Given the description of an element on the screen output the (x, y) to click on. 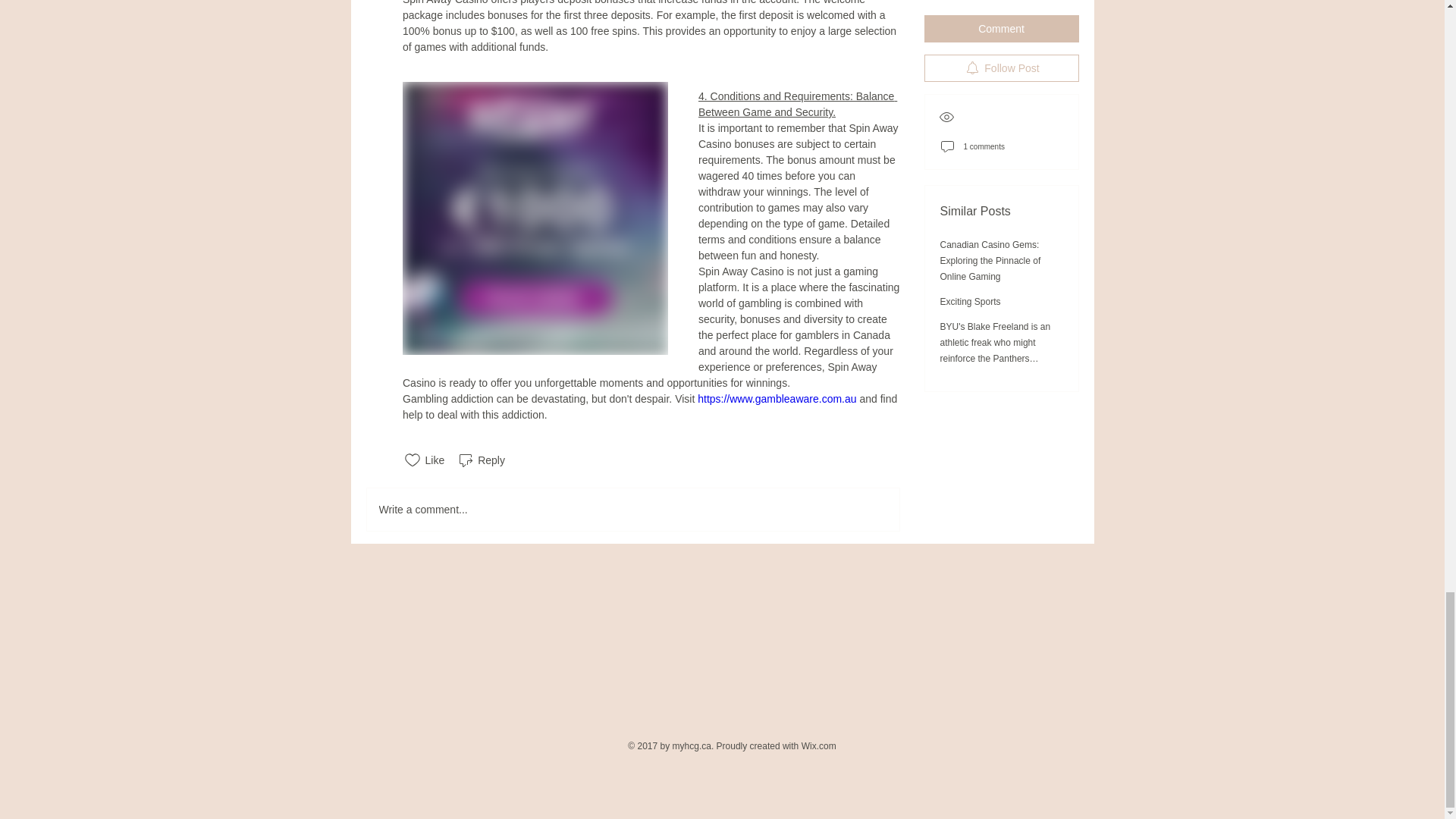
Wix.com (818, 746)
Reply (481, 460)
Write a comment... (632, 509)
